Given the description of an element on the screen output the (x, y) to click on. 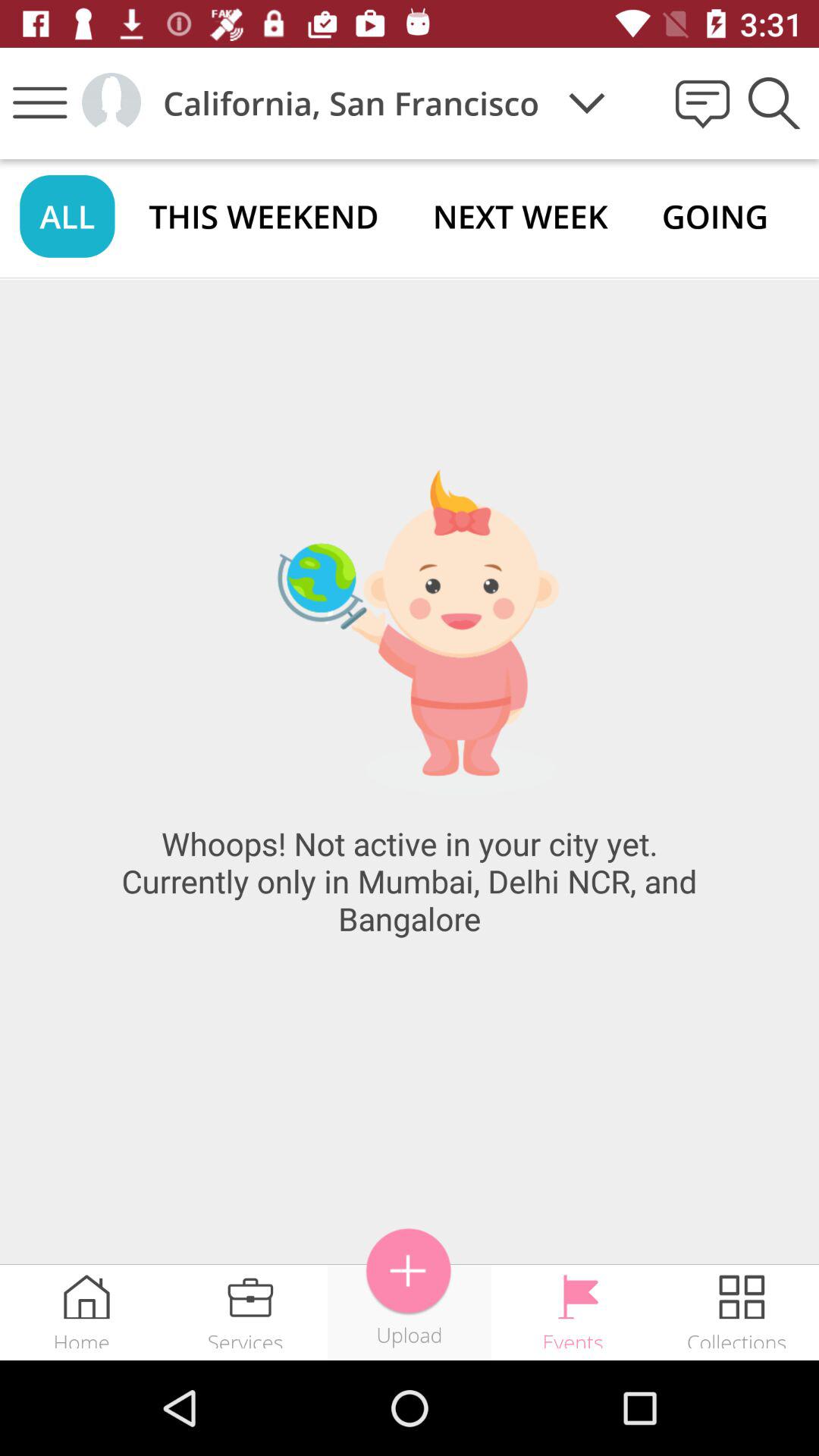
tap icon next to the next week icon (715, 216)
